Given the description of an element on the screen output the (x, y) to click on. 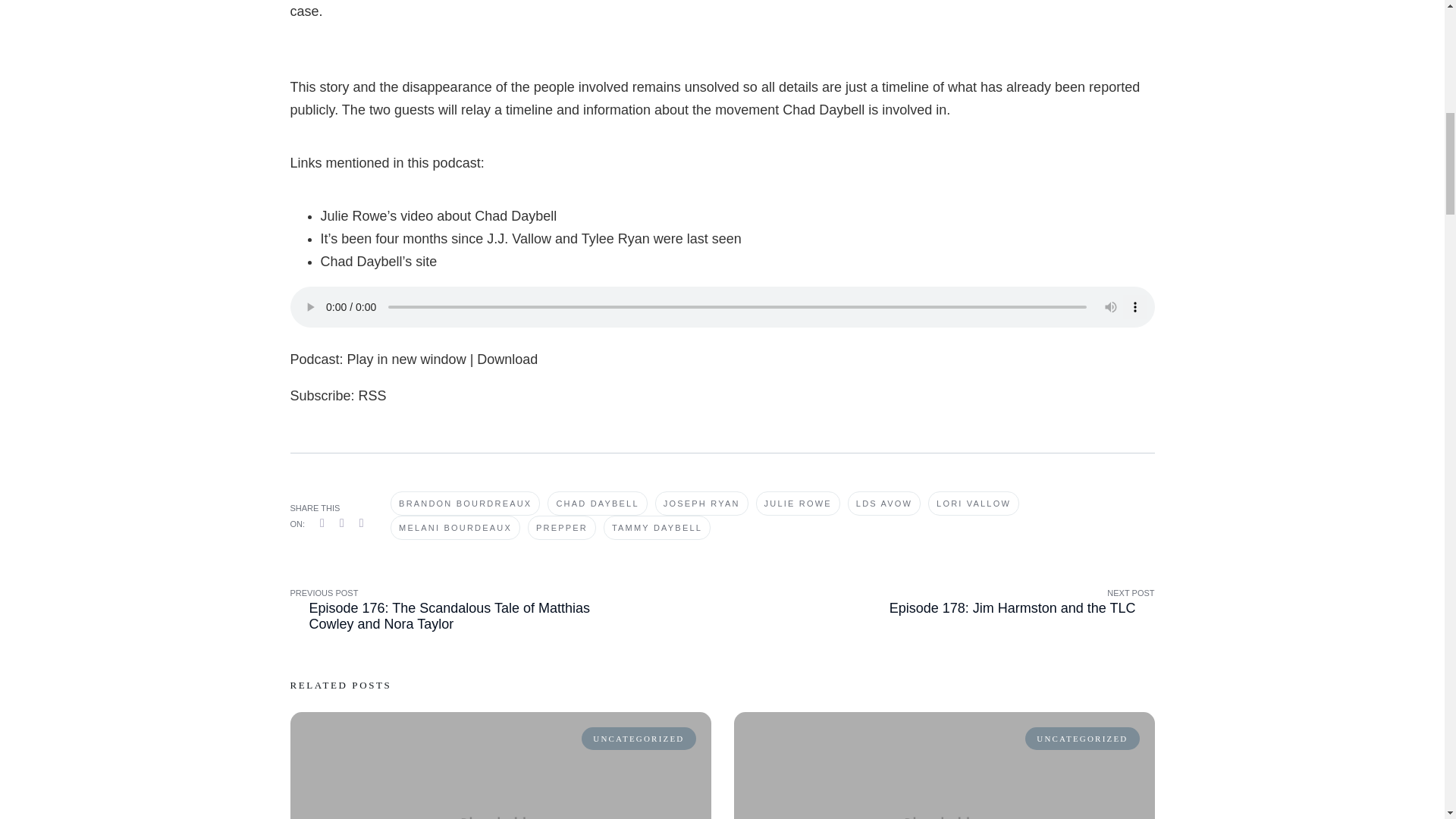
Download (507, 359)
LDS AVOW (883, 503)
PREPPER (561, 527)
BRANDON BOURDREAUX (465, 503)
Download (507, 359)
Subscribe via RSS (372, 395)
JOSEPH RYAN (701, 503)
LORI VALLOW (973, 503)
RSS (372, 395)
Play in new window (406, 359)
JULIE ROWE (797, 503)
CHAD DAYBELL (596, 503)
Play in new window (406, 359)
MELANI BOURDEAUX (454, 527)
